Given the description of an element on the screen output the (x, y) to click on. 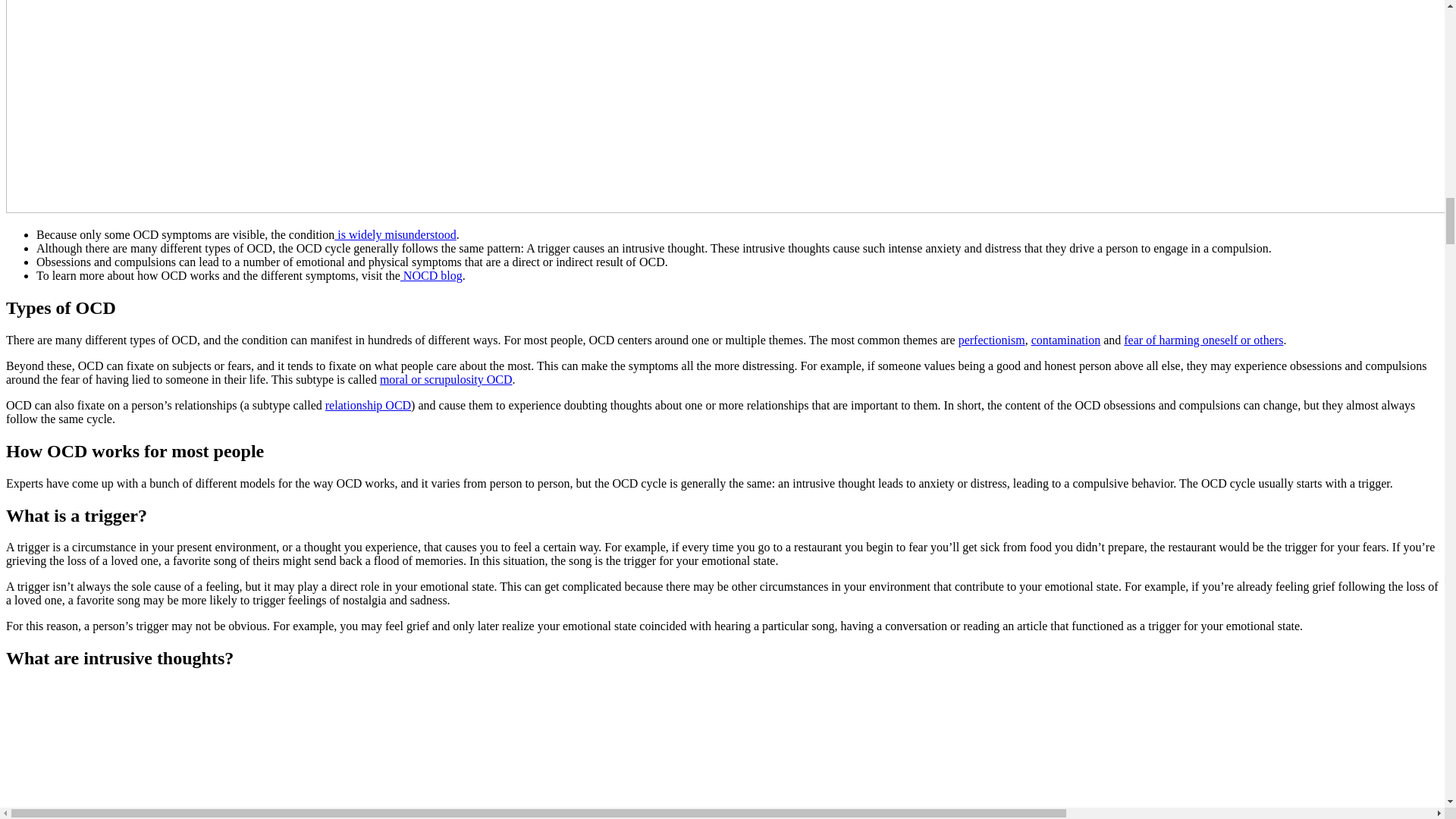
Intrusive Thoughts: Can they be stopped? (234, 751)
moral or scrupulosity OCD (446, 379)
NOCD blog (431, 275)
relationship OCD (367, 404)
contamination (1065, 339)
is widely misunderstood (394, 234)
fear of harming oneself or others (1203, 339)
perfectionism (991, 339)
